Given the description of an element on the screen output the (x, y) to click on. 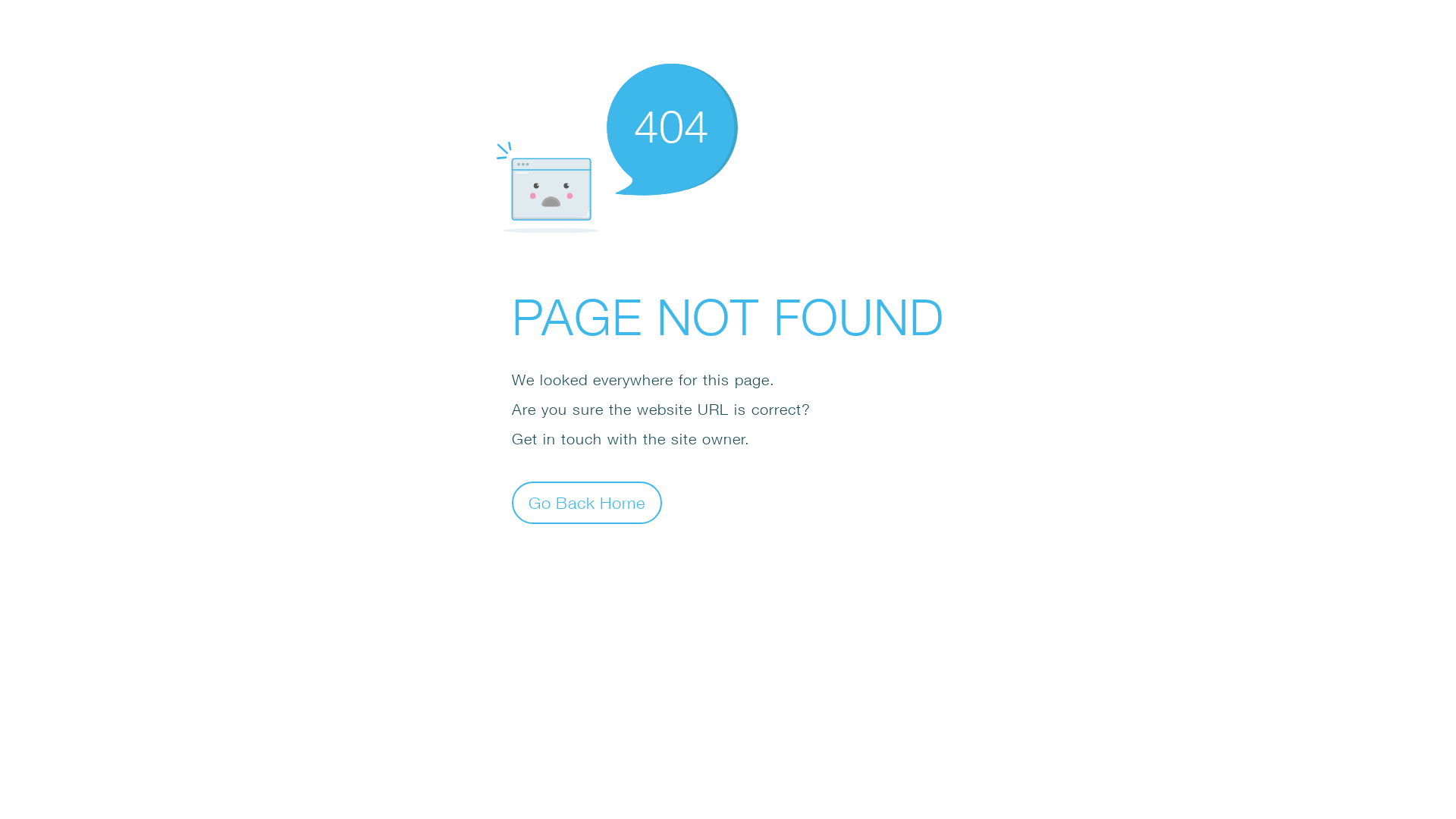
Go Back Home Element type: text (586, 502)
